Given the description of an element on the screen output the (x, y) to click on. 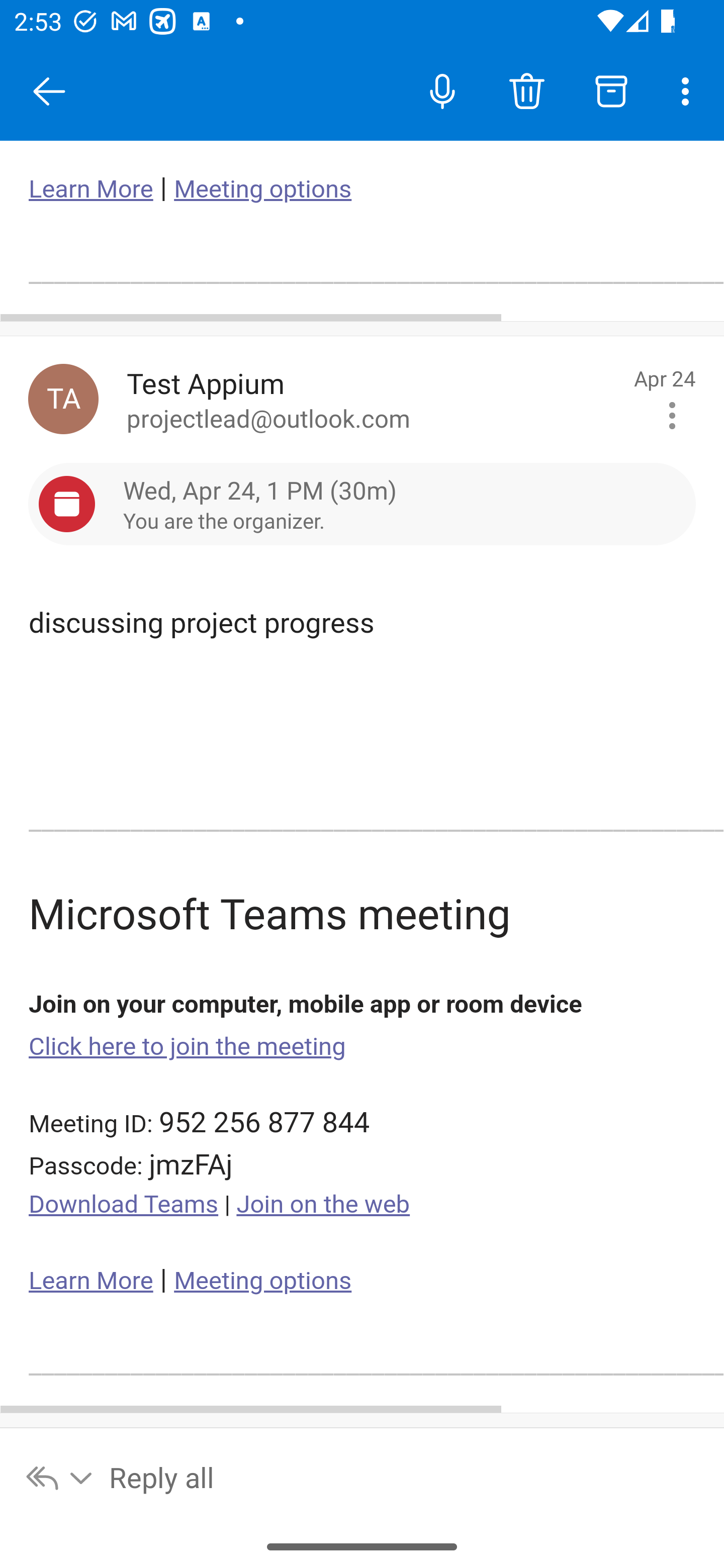
Close (49, 91)
Delete (526, 90)
Archive (611, 90)
More options (688, 90)
Learn More (90, 189)
Meeting options (262, 189)
Test Appium, testappium002@outlook.com (63, 398)
Test Appium
to projectlead@outlook.com (372, 398)
Message actions (671, 416)
Click here to join the meeting (187, 1046)
Download Teams (124, 1204)
Join on the web (323, 1204)
Learn More (90, 1280)
Meeting options (262, 1280)
Reply options (59, 1476)
